Given the description of an element on the screen output the (x, y) to click on. 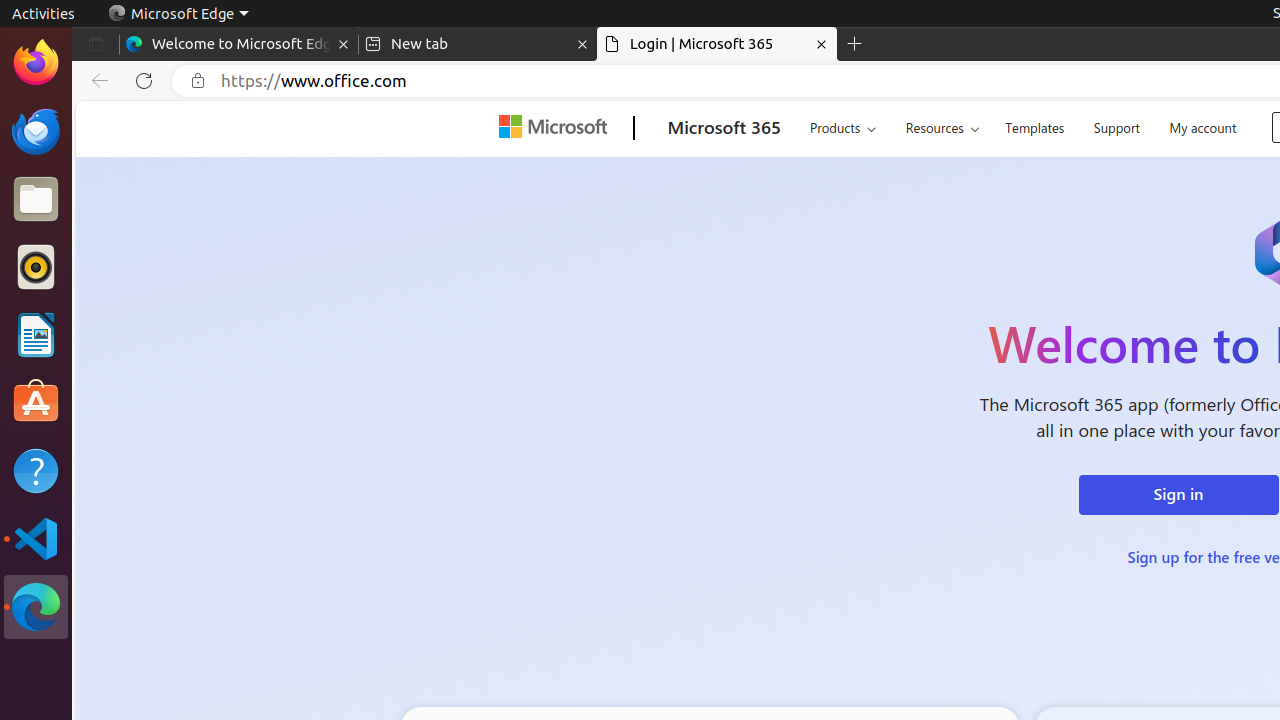
My account Element type: link (1203, 126)
Visual Studio Code Element type: push-button (36, 538)
Firefox Web Browser Element type: push-button (36, 63)
Microsoft Edge Element type: push-button (36, 607)
Files Element type: push-button (36, 199)
